Given the description of an element on the screen output the (x, y) to click on. 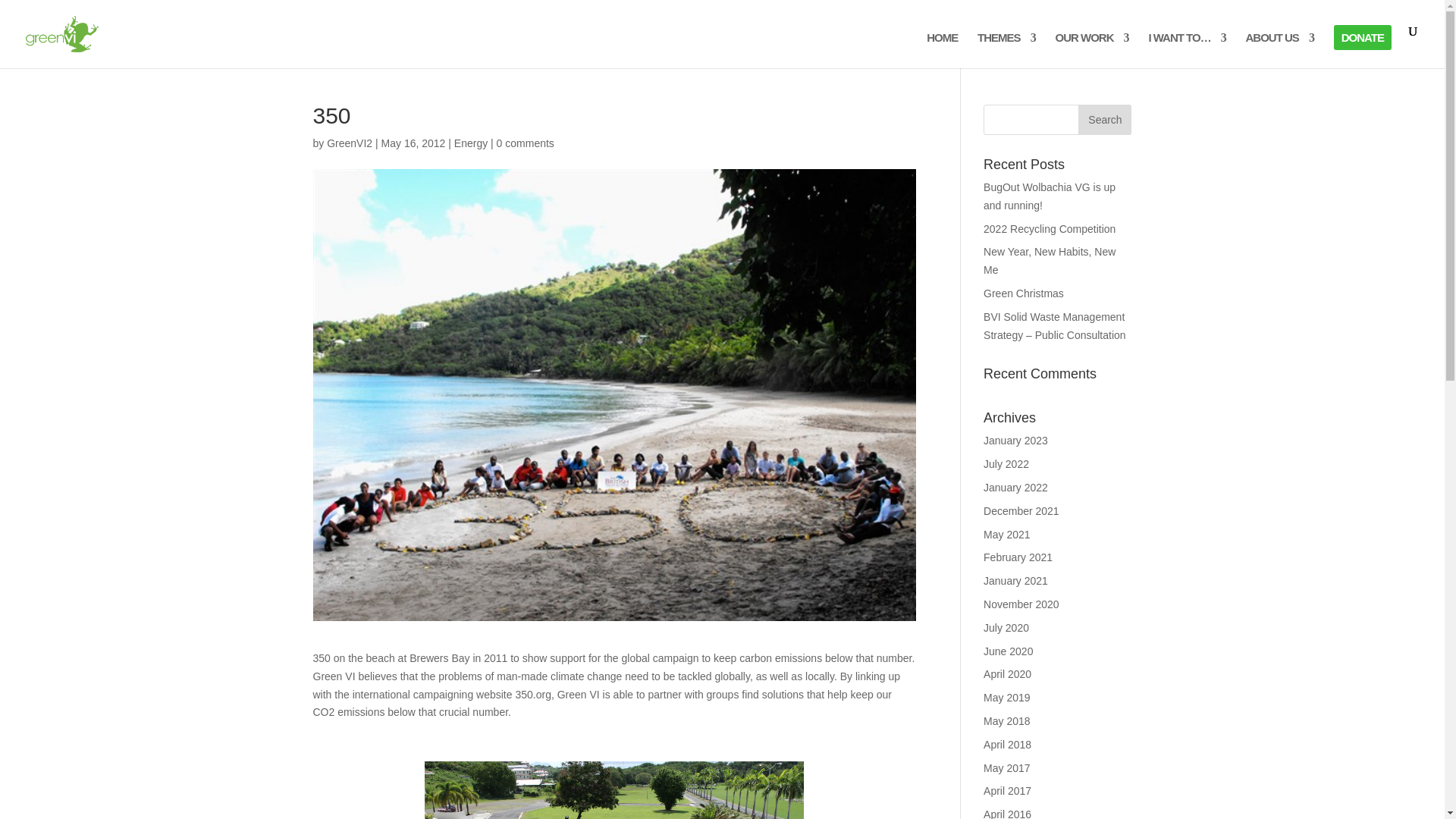
Posts by GreenVI2 (349, 143)
ABOUT US (1280, 49)
DONATE (1362, 49)
Search (1104, 119)
OUR WORK (1092, 49)
THEMES (1005, 49)
